Given the description of an element on the screen output the (x, y) to click on. 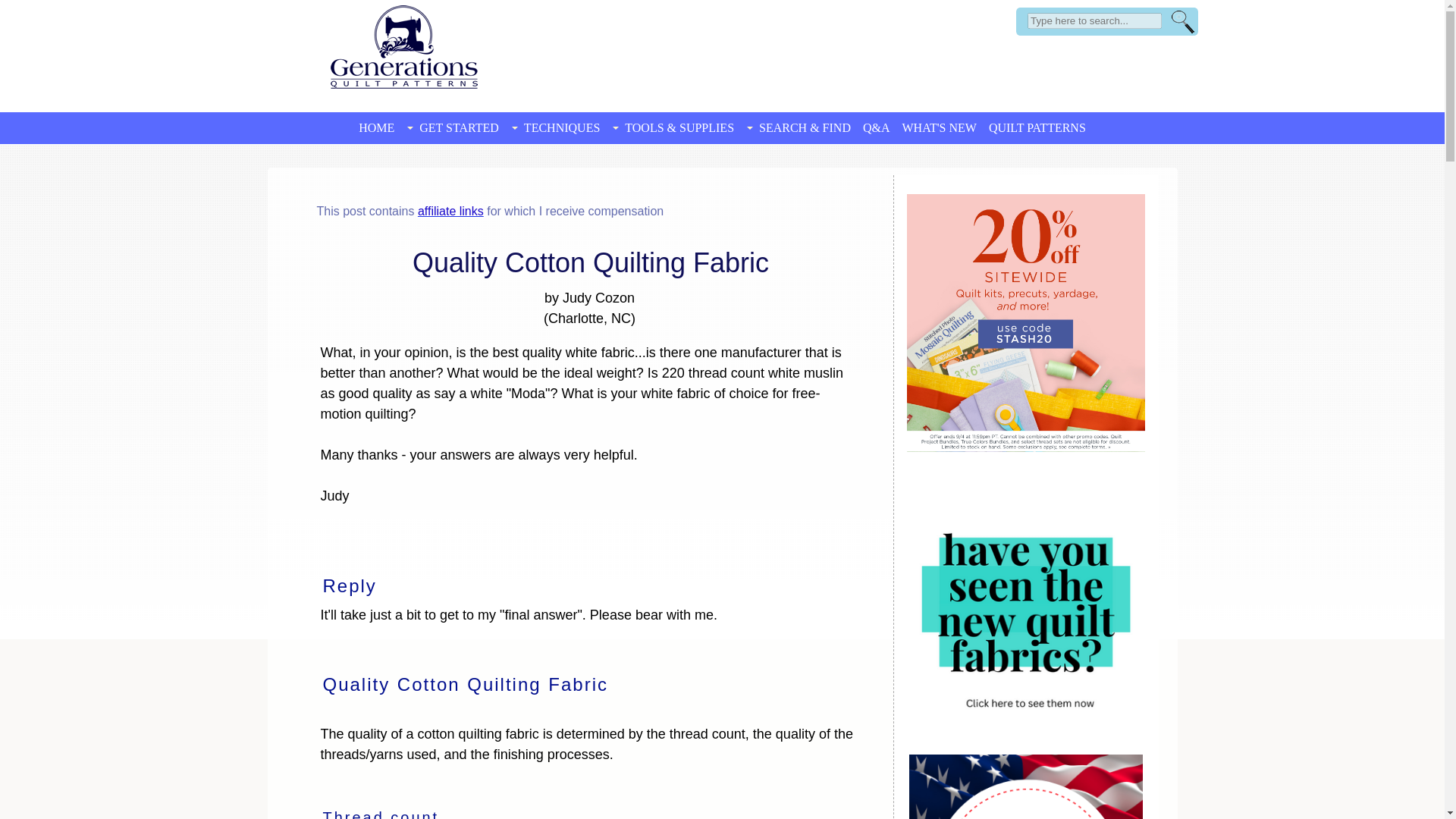
WHAT'S NEW (939, 128)
HOME (376, 128)
QUILT PATTERNS (1037, 128)
affiliate links (450, 210)
Check out the newest quilt fabric arriving in stores now (1026, 601)
Click here for free patriotic quilt patterns to download (1025, 785)
